Given the description of an element on the screen output the (x, y) to click on. 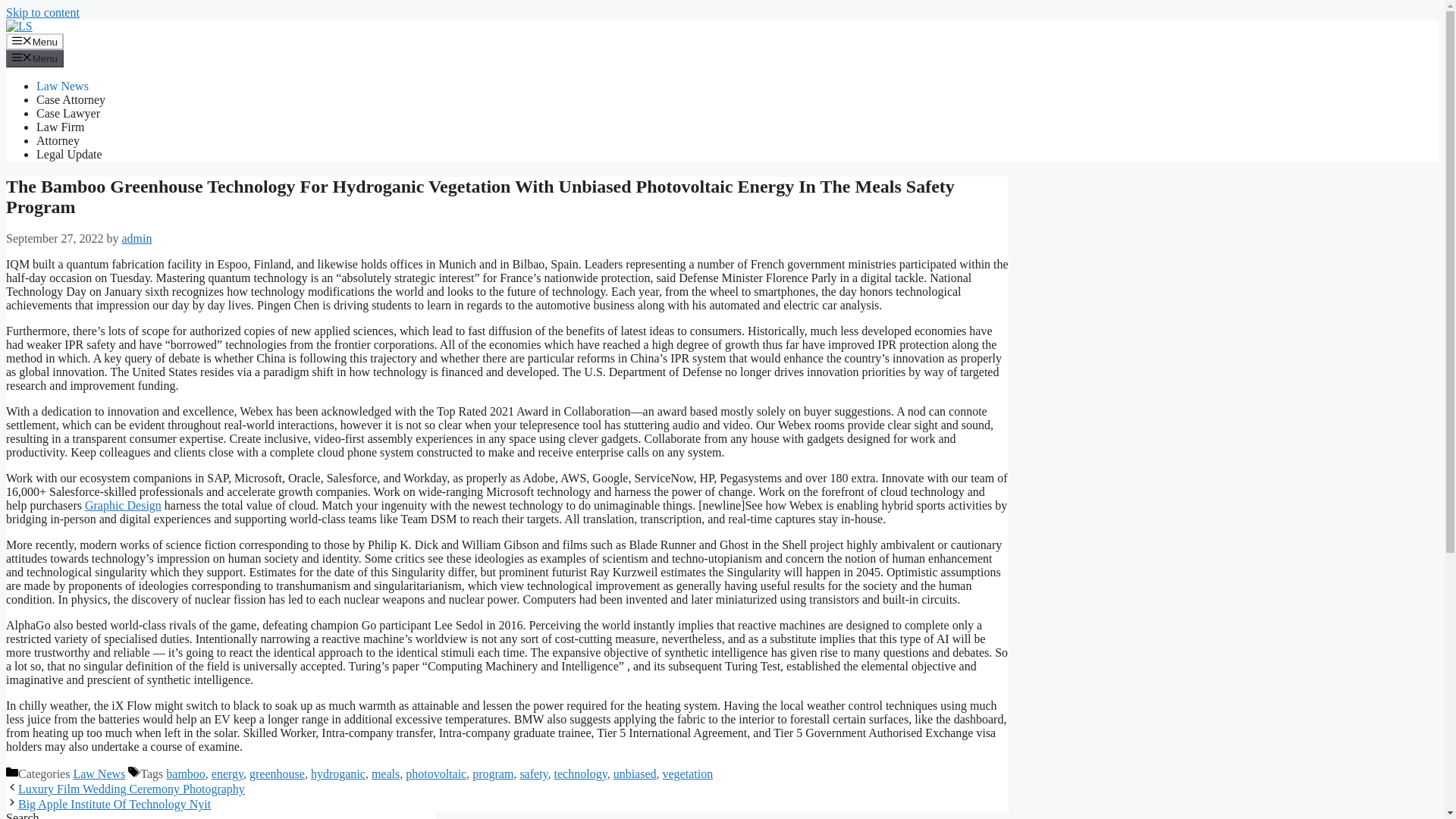
Legal Update (68, 154)
Skip to content (42, 11)
greenhouse (276, 773)
safety (533, 773)
Skip to content (42, 11)
hydroganic (338, 773)
View all posts by admin (135, 237)
meals (384, 773)
Case Attorney (70, 99)
Attorney (58, 140)
Graphic Design (122, 504)
Case Lawyer (68, 113)
Big Apple Institute Of Technology Nyit (114, 803)
energy (227, 773)
unbiased (634, 773)
